Given the description of an element on the screen output the (x, y) to click on. 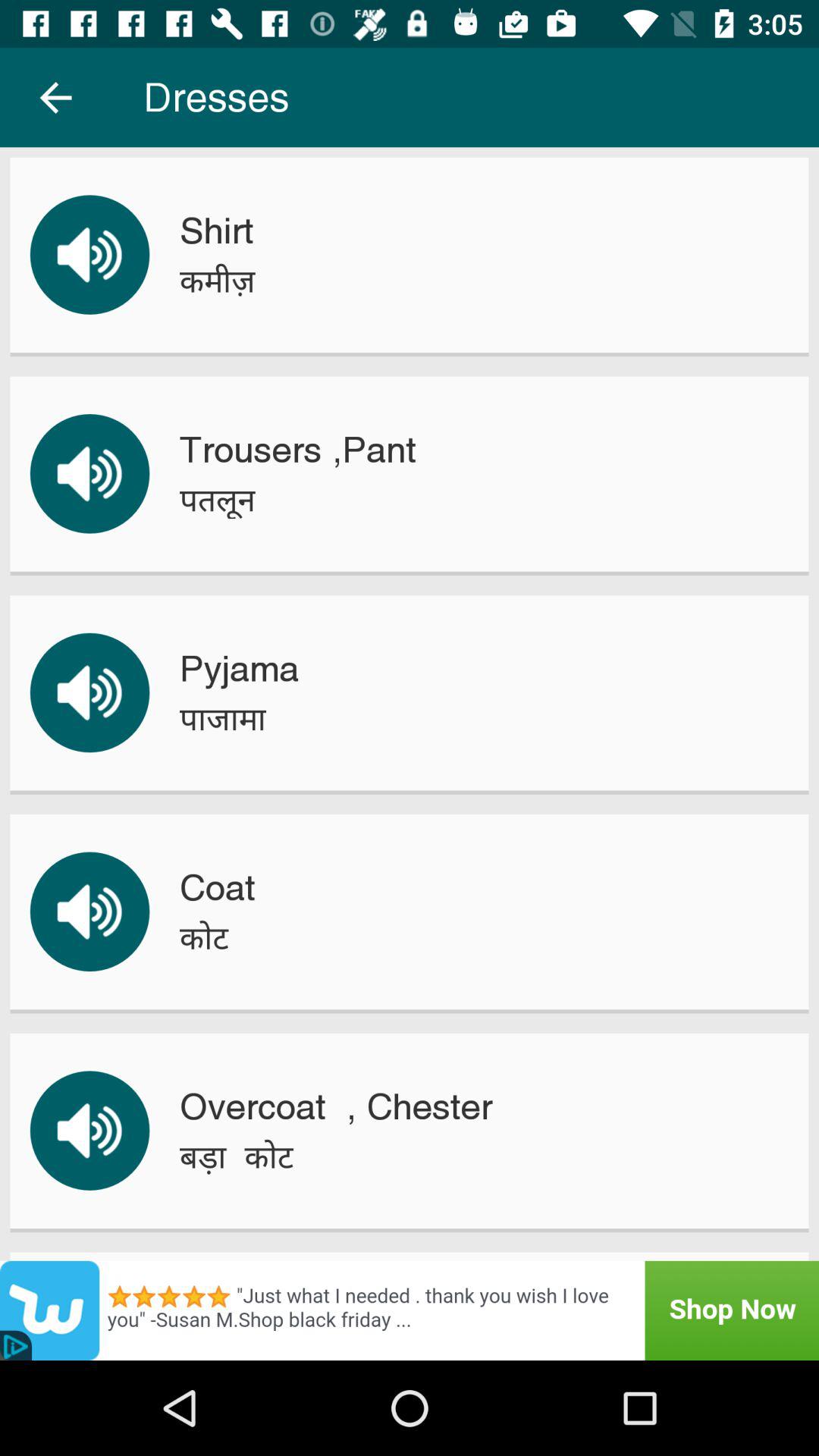
choose the icon above overcoat  , chester (203, 937)
